Given the description of an element on the screen output the (x, y) to click on. 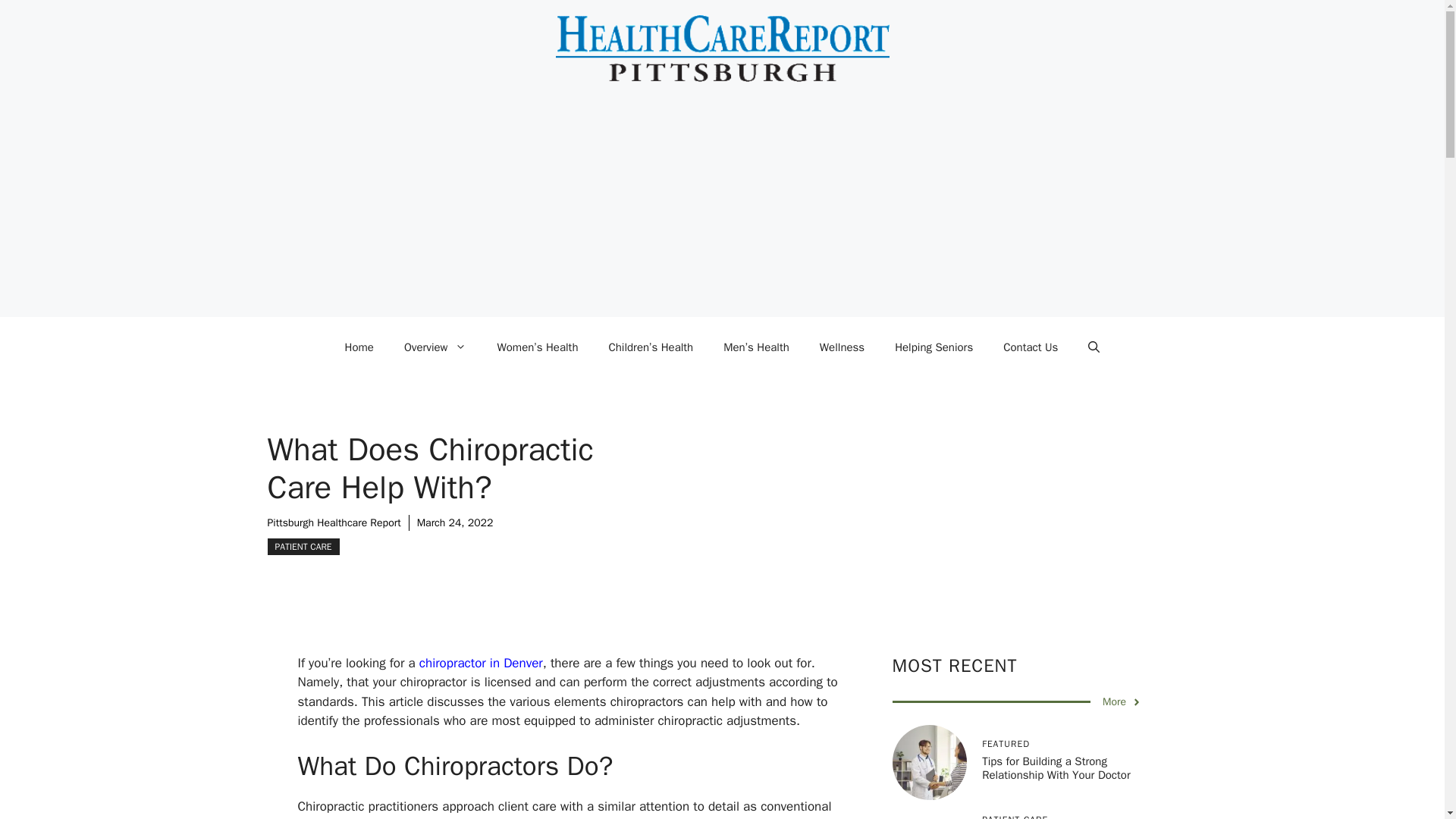
Tips for Building a Strong Relationship With Your Doctor (1056, 768)
Wellness (842, 347)
chiropractor in Denver (481, 662)
Home (359, 347)
PATIENT CARE (302, 546)
Pittsburgh Healthcare Report (333, 522)
Helping Seniors (933, 347)
More (1121, 701)
Contact Us (1030, 347)
Overview (434, 347)
